Given the description of an element on the screen output the (x, y) to click on. 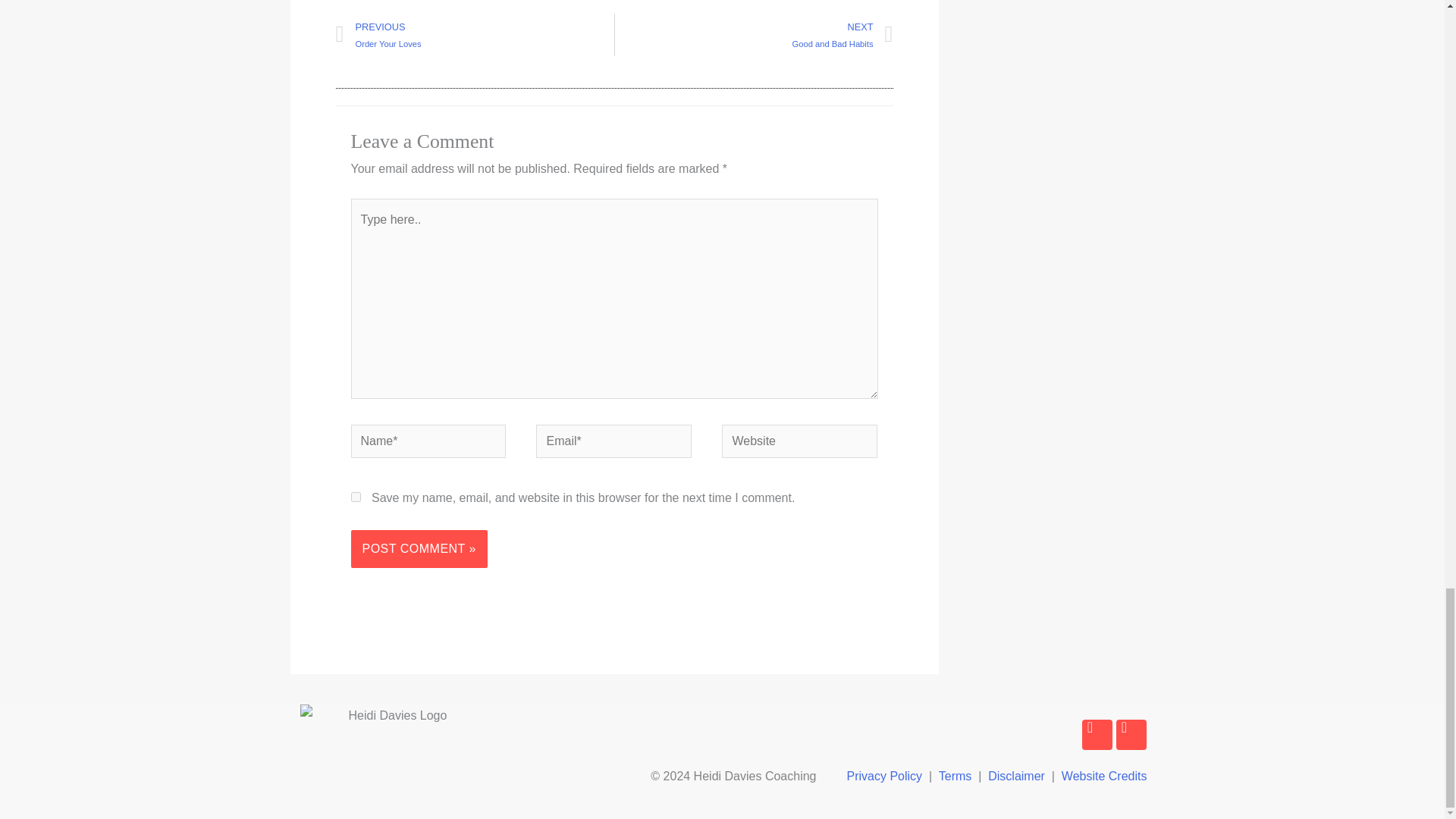
yes (354, 497)
Instagram (473, 34)
Facebook (1131, 734)
